Given the description of an element on the screen output the (x, y) to click on. 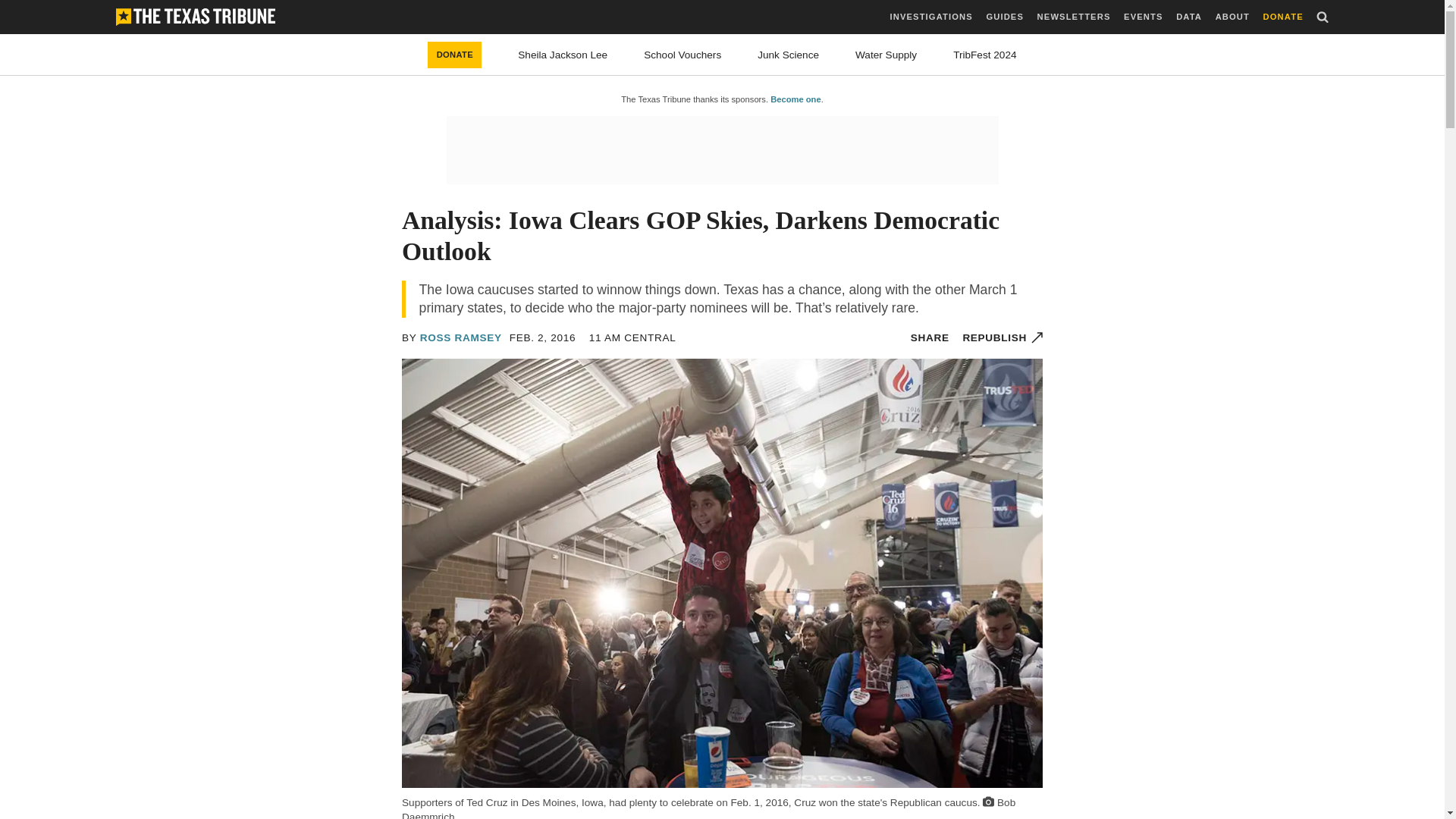
ABOUT (1232, 17)
Junk Science (787, 54)
2016-02-02 11:55 CST (542, 337)
EVENTS (1142, 17)
GUIDES (1004, 17)
NEWSLETTERS (1073, 17)
Sheila Jackson Lee (562, 54)
Water Supply (886, 54)
3rd party ad content (721, 150)
INVESTIGATIONS (930, 17)
School Vouchers (681, 54)
DONATE (454, 54)
TribFest 2024 (984, 54)
DONATE (1283, 17)
REPUBLISH (1002, 337)
